Given the description of an element on the screen output the (x, y) to click on. 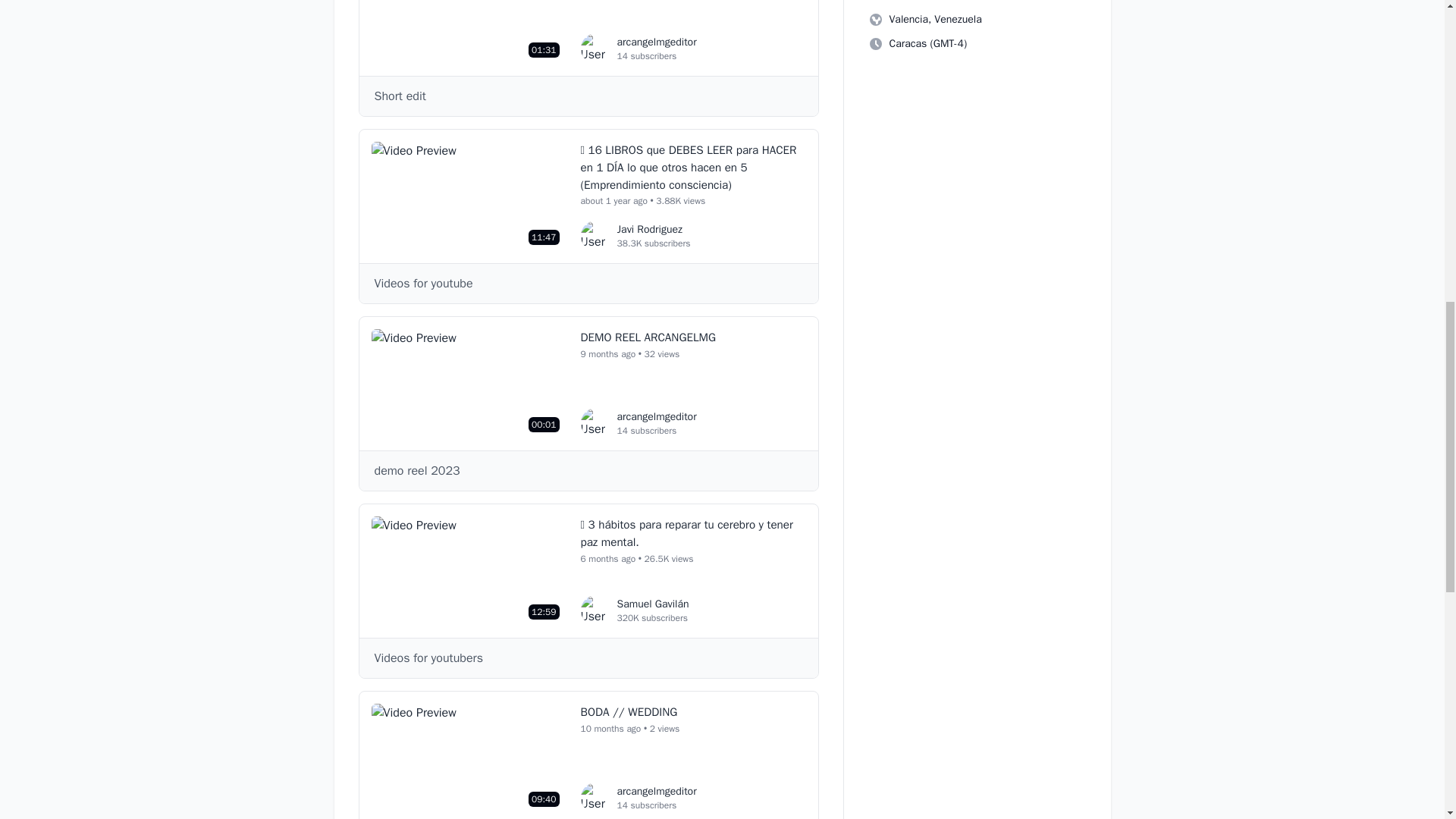
09:40 (638, 422)
01:31 (468, 758)
00:01 (468, 31)
11:47 (468, 383)
Clock (468, 195)
12:59 (874, 43)
